Given the description of an element on the screen output the (x, y) to click on. 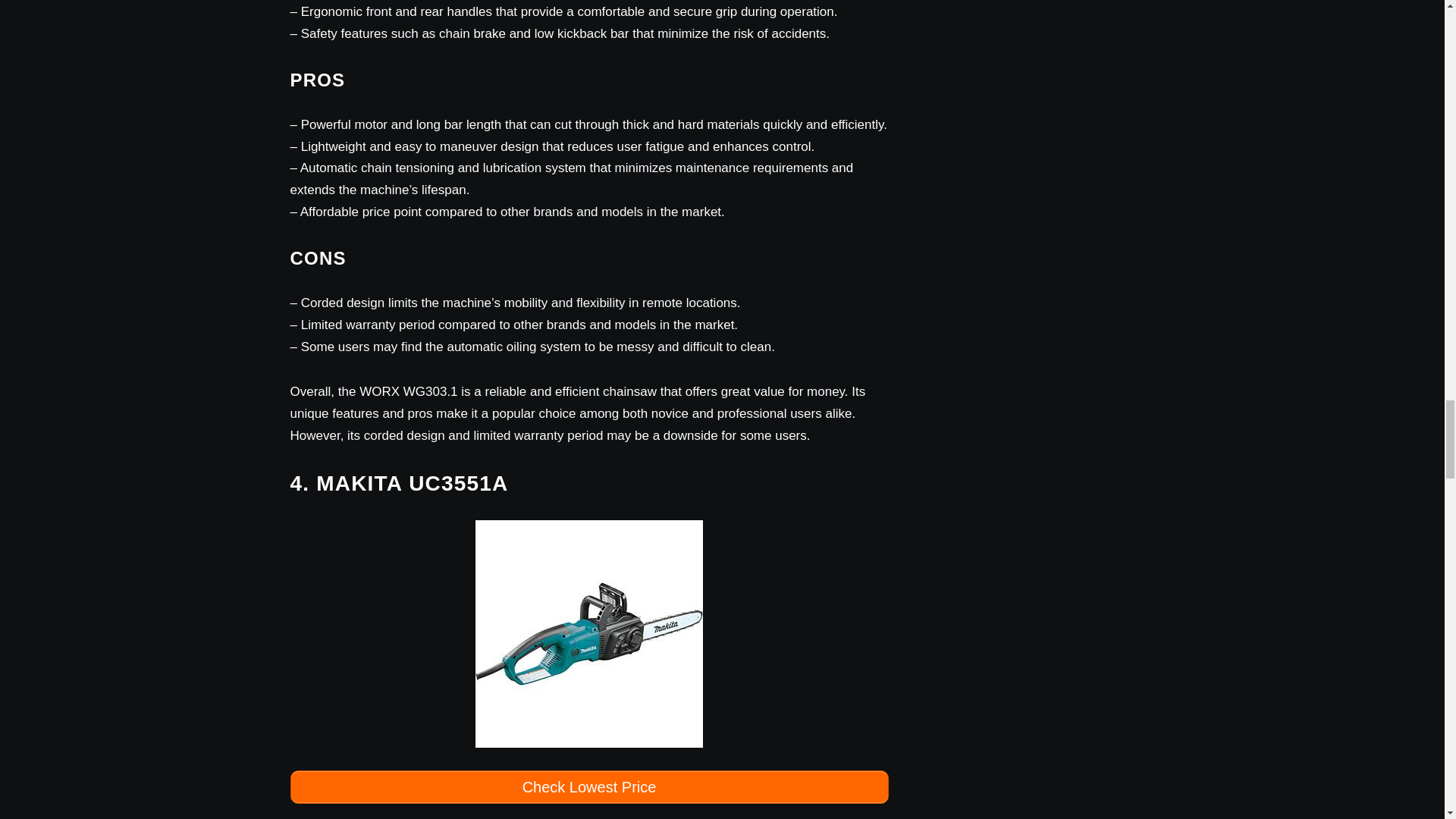
Check Lowest Price (588, 786)
